Given the description of an element on the screen output the (x, y) to click on. 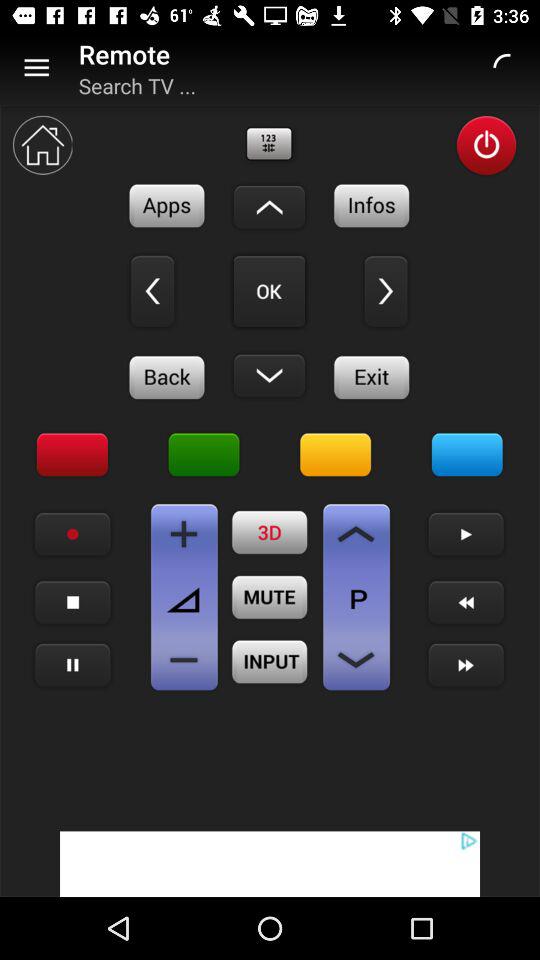
home page option (42, 145)
